Given the description of an element on the screen output the (x, y) to click on. 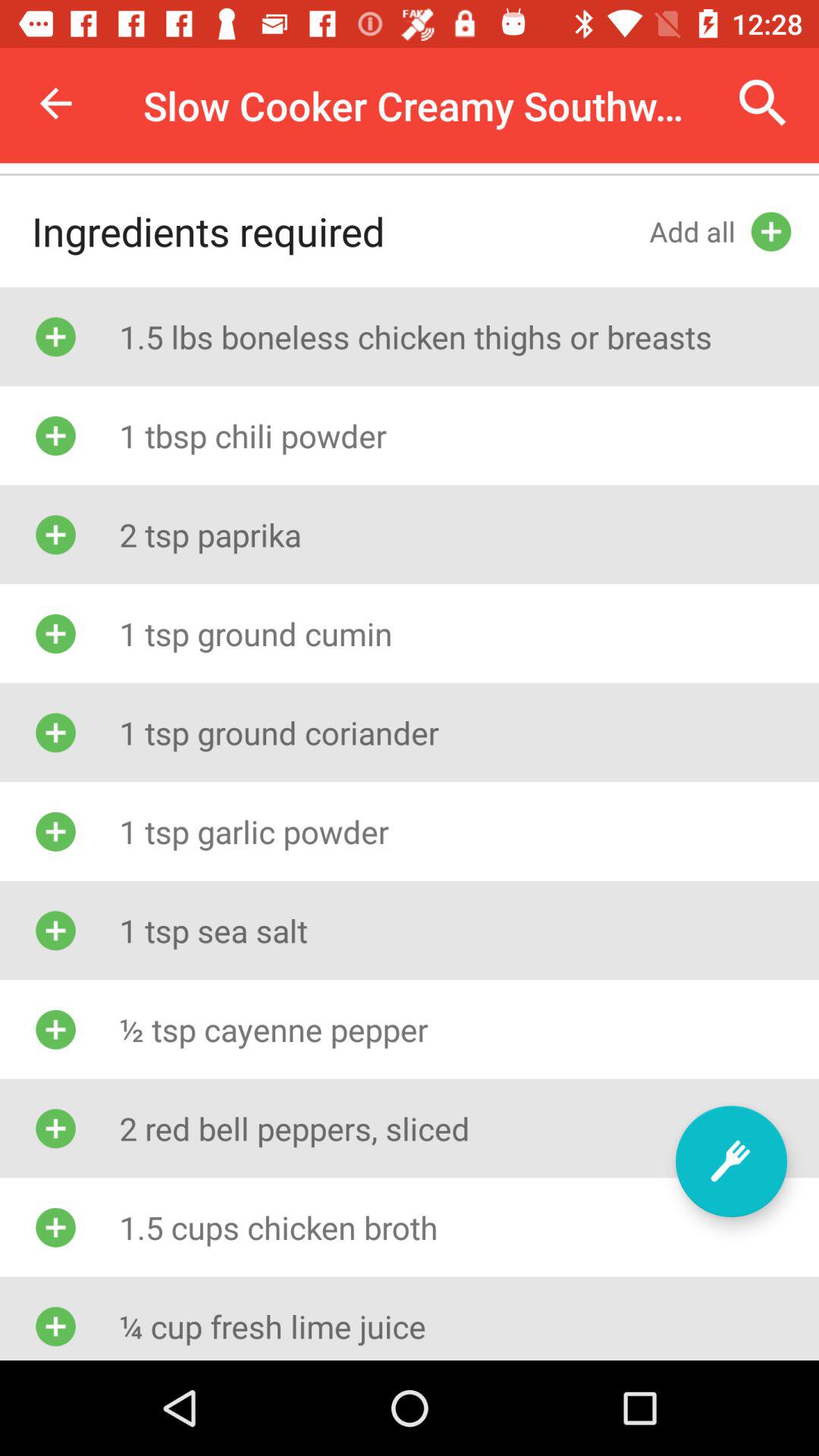
add ingredient (731, 1161)
